Given the description of an element on the screen output the (x, y) to click on. 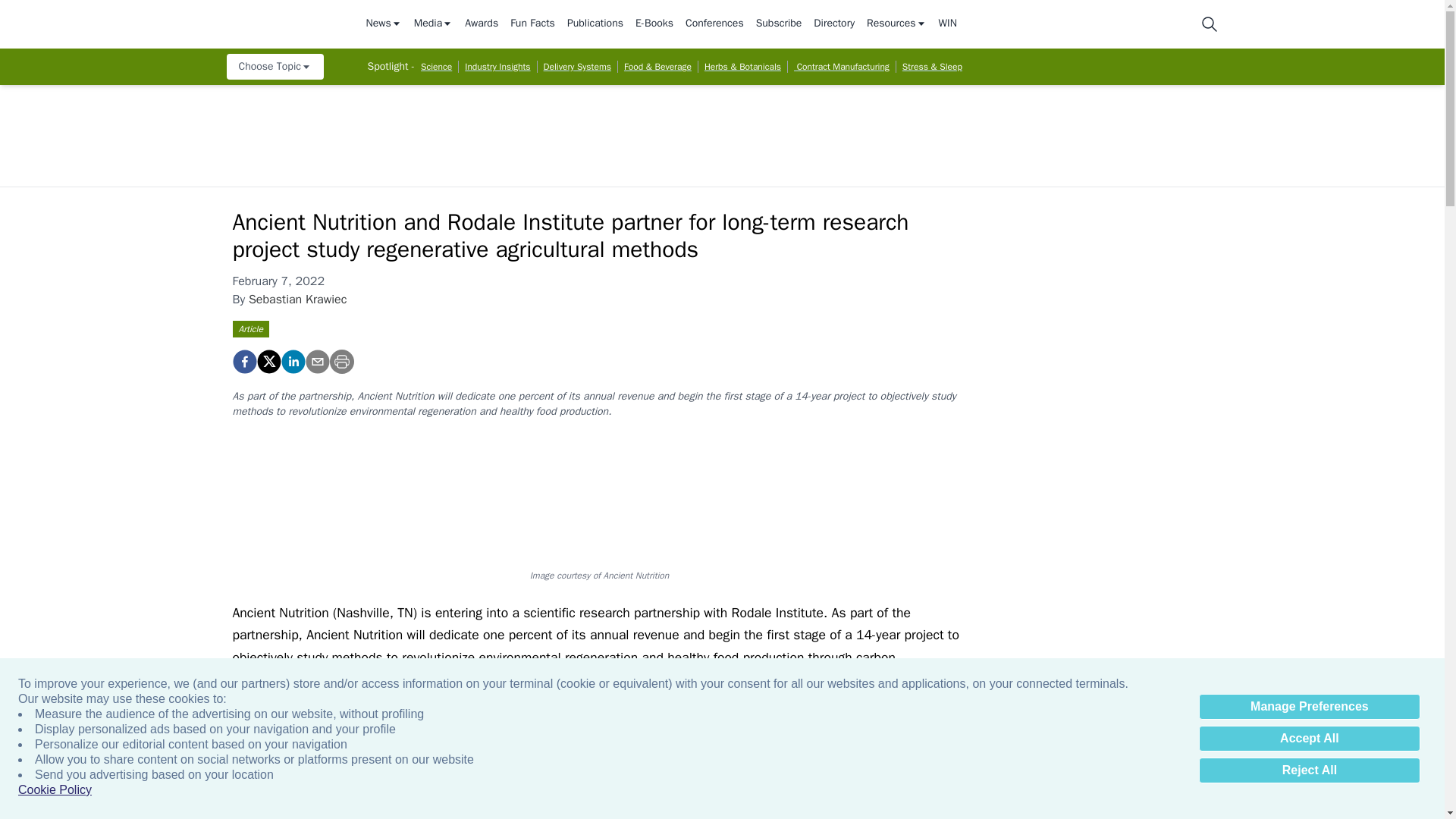
Publications (595, 23)
Directory (833, 23)
Cookie Policy (54, 789)
WIN (947, 23)
E-Books (653, 23)
Manage Preferences (1309, 706)
Reject All (1309, 769)
Choose Topic (274, 66)
Accept All (1309, 738)
